Given the description of an element on the screen output the (x, y) to click on. 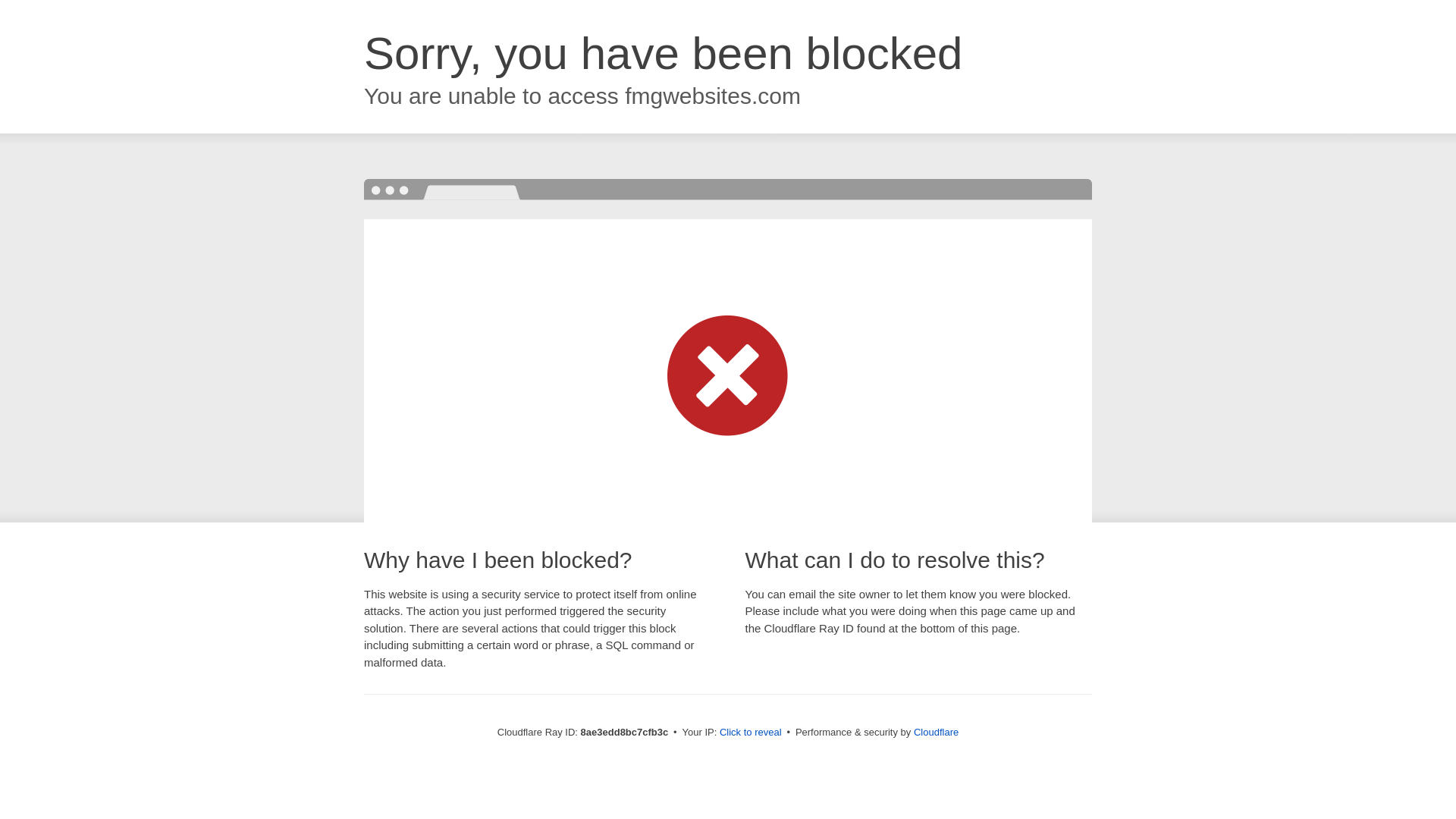
Cloudflare (936, 731)
Click to reveal (750, 732)
